Given the description of an element on the screen output the (x, y) to click on. 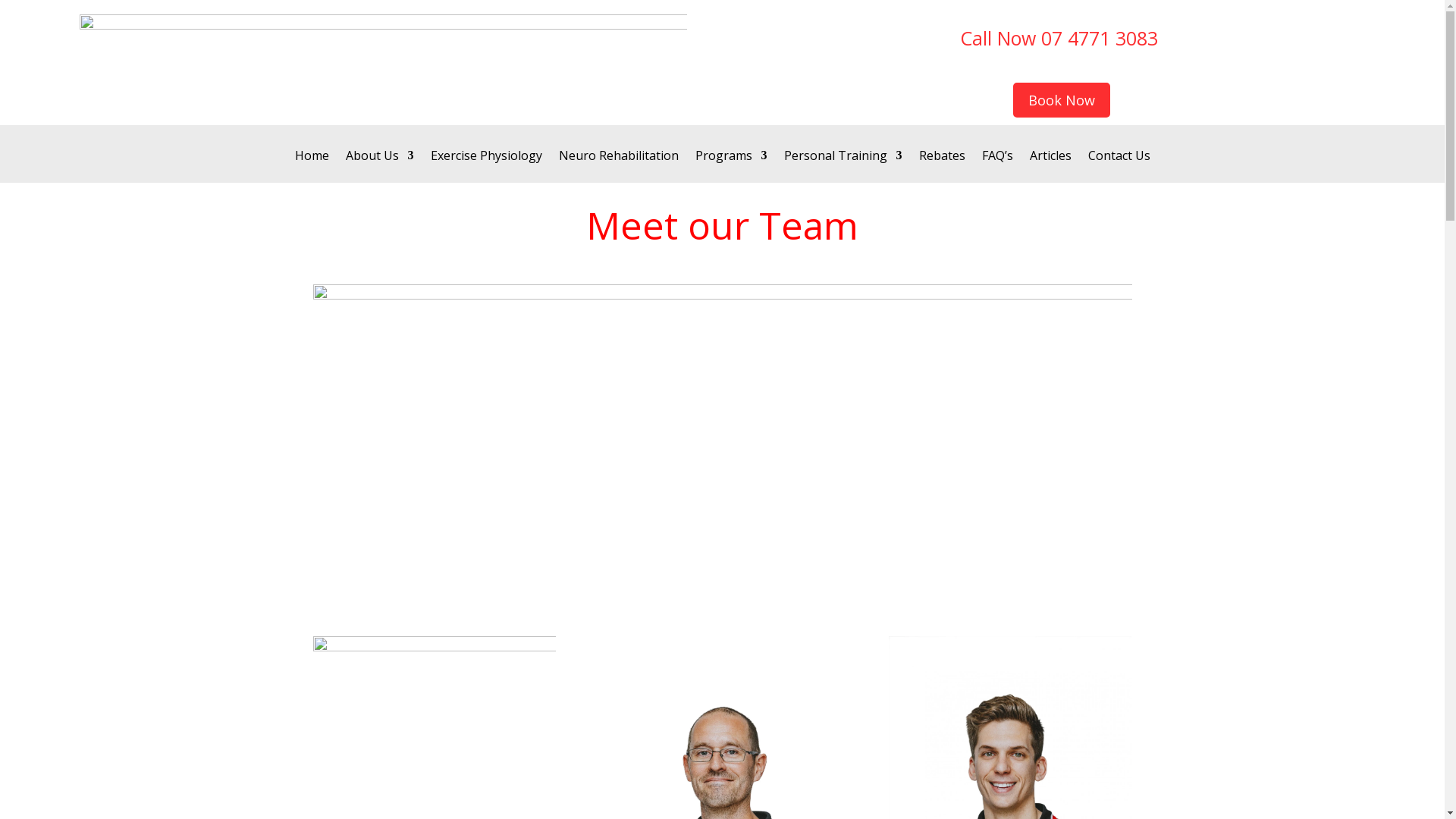
Rebates Element type: text (942, 166)
Programs Element type: text (730, 166)
Neuro Rehabilitation Element type: text (617, 166)
Articles Element type: text (1050, 166)
Book Now Element type: text (1061, 99)
About Us Element type: text (379, 166)
Exercise Physiology Element type: text (486, 166)
Contact Us Element type: text (1118, 166)
Home Element type: text (311, 166)
Personal Training Element type: text (843, 166)
07 4771 3083 Element type: text (1099, 37)
